Given the description of an element on the screen output the (x, y) to click on. 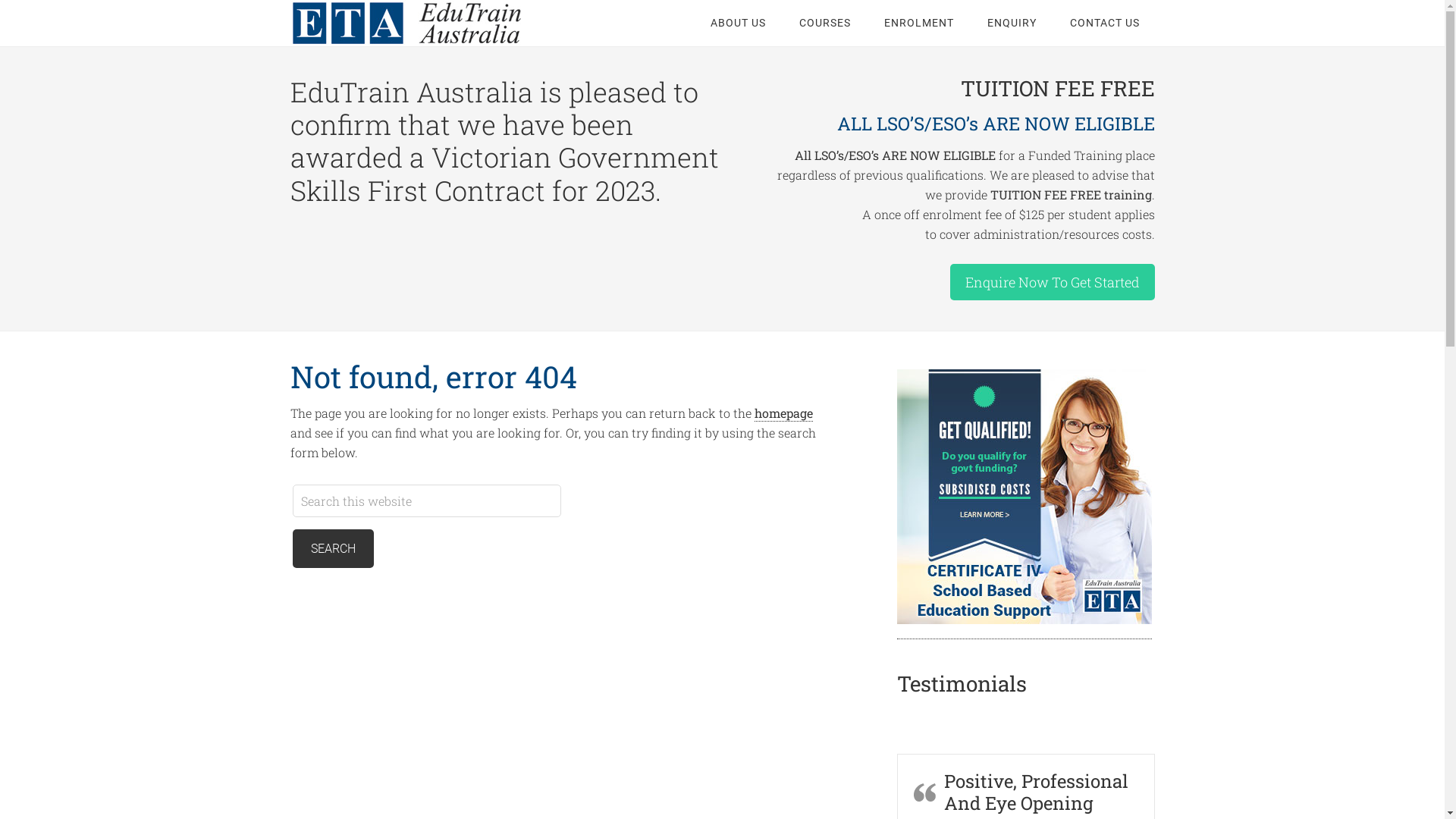
ENQUIRY Element type: text (1011, 23)
CONTACT US Element type: text (1104, 23)
EDUTRAIN AUSTRALIA Element type: text (410, 22)
ABOUT US Element type: text (737, 23)
COURSES Element type: text (825, 23)
ENROLMENT Element type: text (919, 23)
Search Element type: text (332, 548)
Enquire Now To Get Started Element type: text (1051, 281)
homepage Element type: text (782, 412)
